Given the description of an element on the screen output the (x, y) to click on. 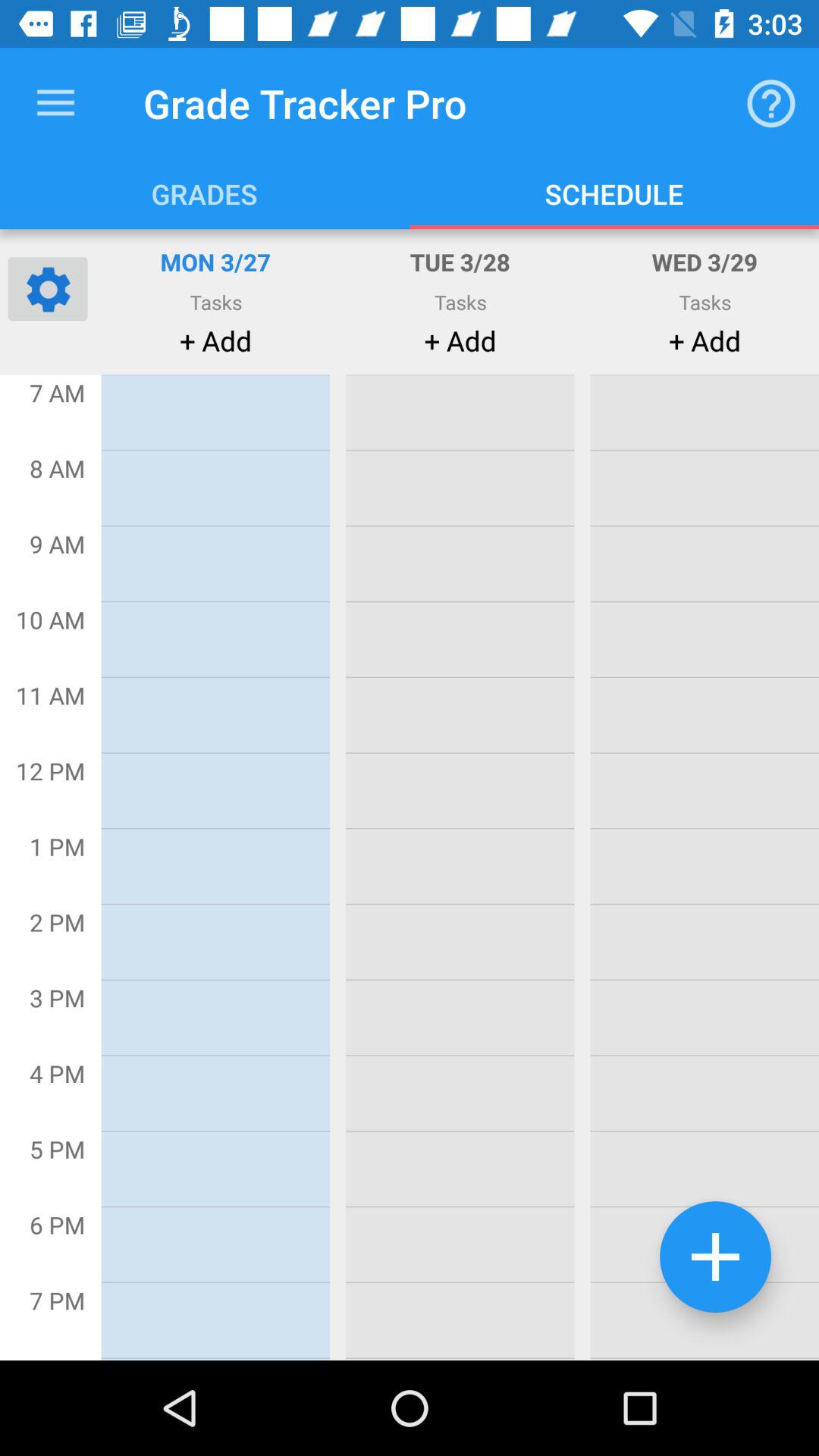
select the settings bar (47, 288)
